Given the description of an element on the screen output the (x, y) to click on. 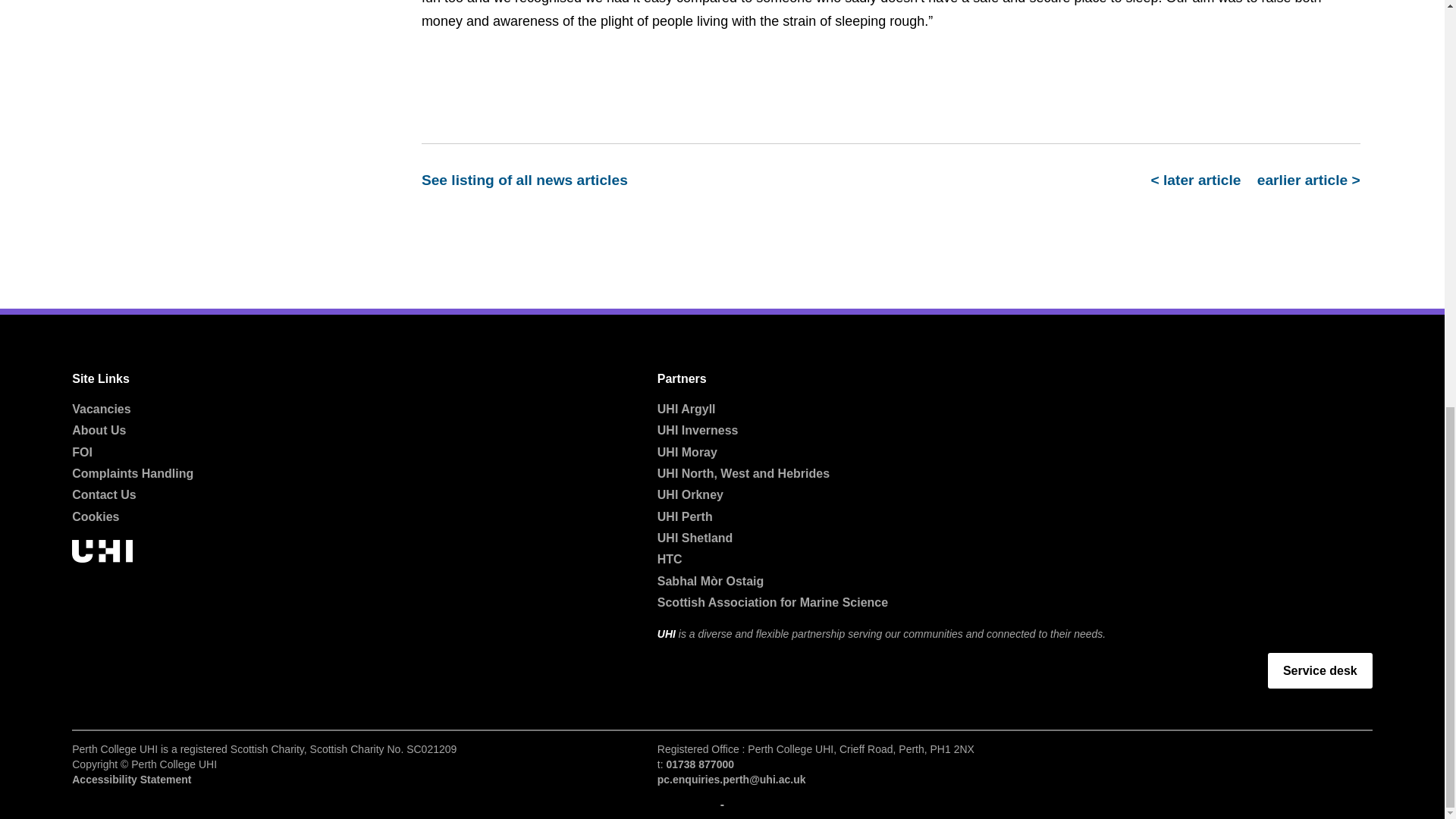
20180205 College supports hospitality industry  (1199, 179)
20180228 College Closed 28 February (1304, 179)
